Given the description of an element on the screen output the (x, y) to click on. 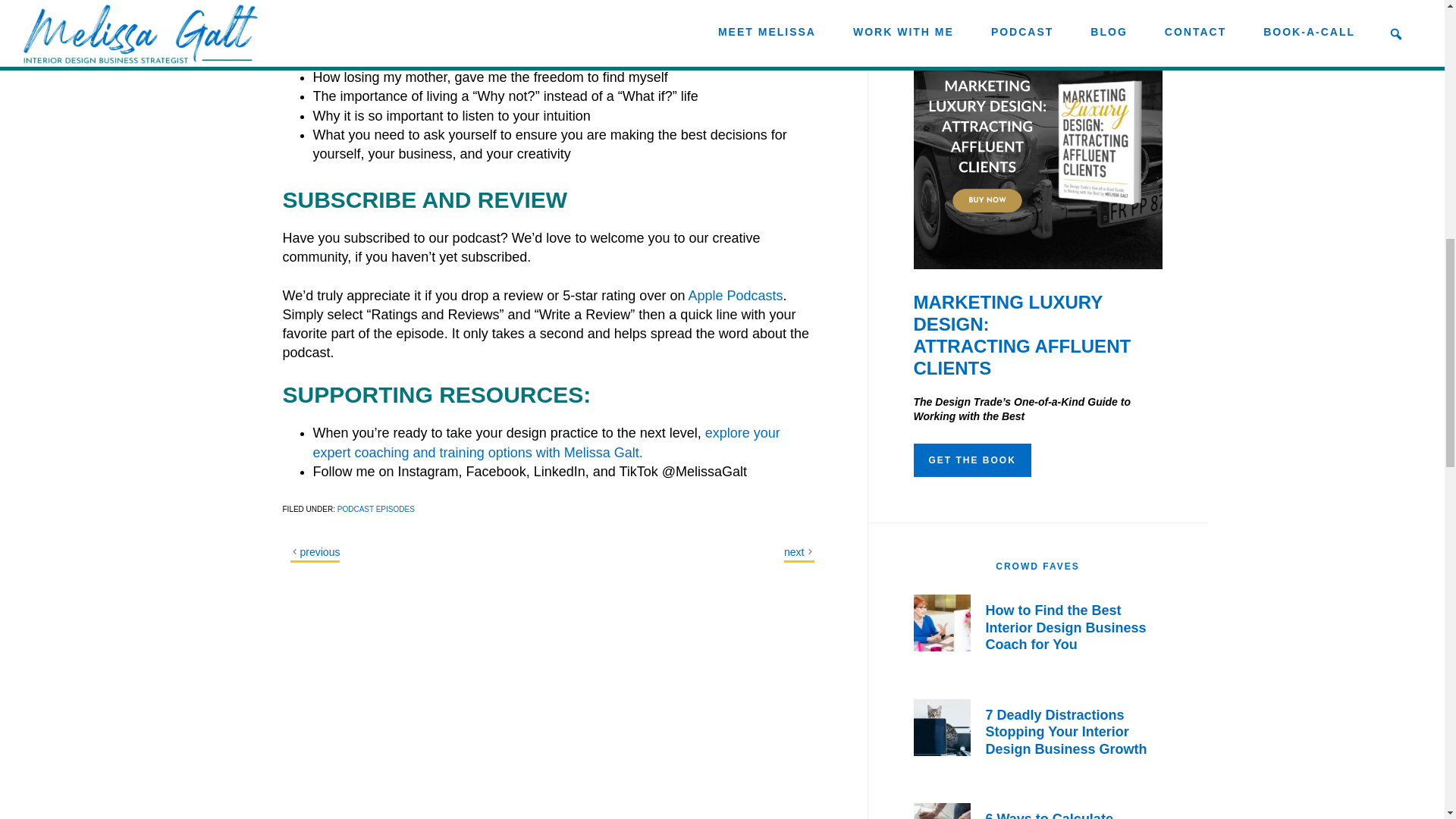
How to Find the Best Interior Design Business Coach for You (1066, 626)
GET THE BOOK (971, 459)
Apple Podcasts (735, 295)
previous (319, 551)
next (793, 551)
6 Ways to Calculate Interior Design Fees with Transparency (1066, 815)
PODCAST EPISODES (375, 509)
